Given the description of an element on the screen output the (x, y) to click on. 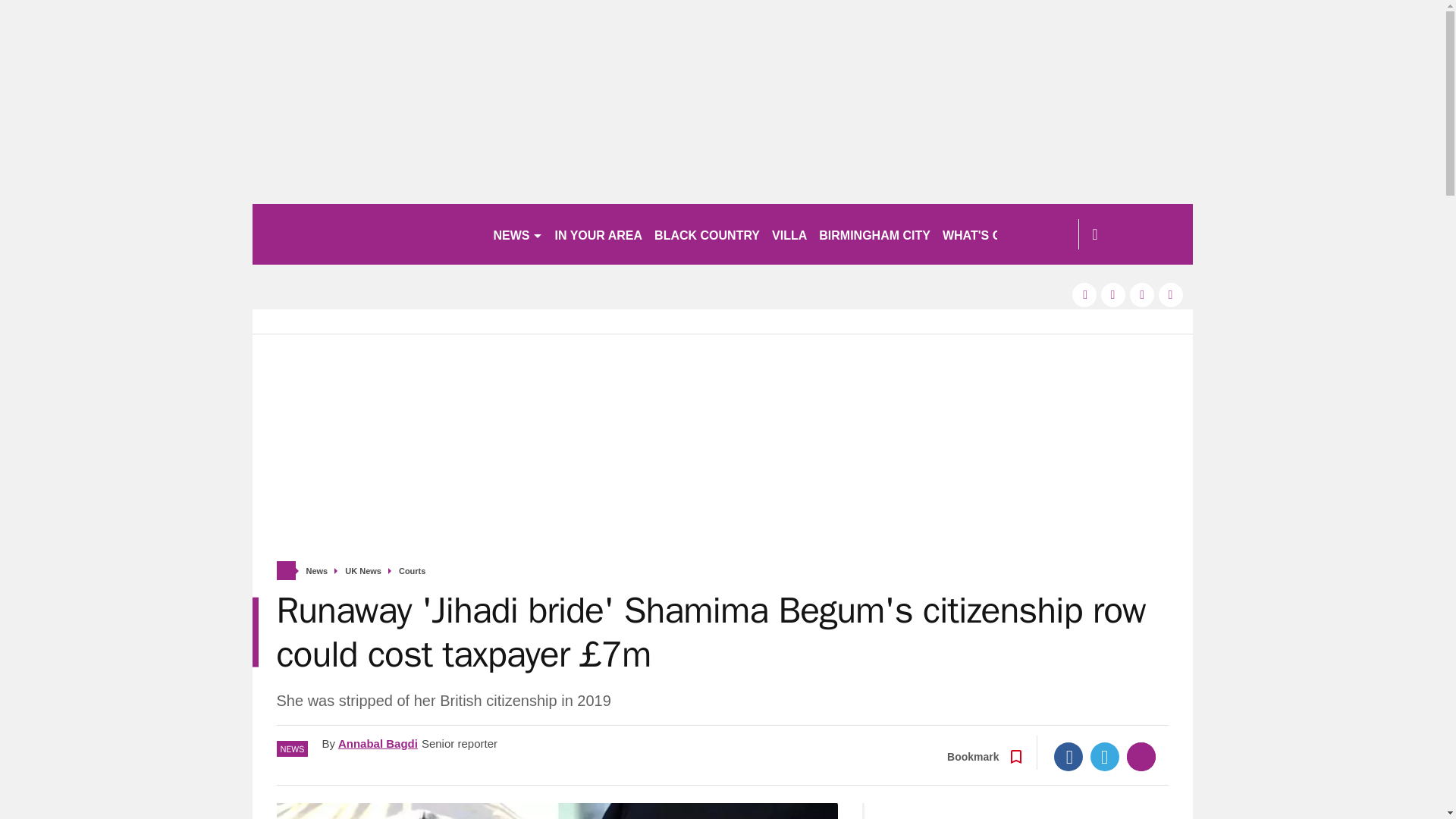
instagram (1170, 294)
BLACK COUNTRY (706, 233)
birminghammail (365, 233)
facebook (1083, 294)
WHAT'S ON (982, 233)
BIRMINGHAM CITY (874, 233)
IN YOUR AREA (598, 233)
twitter (1112, 294)
NEWS (517, 233)
tiktok (1141, 294)
